Given the description of an element on the screen output the (x, y) to click on. 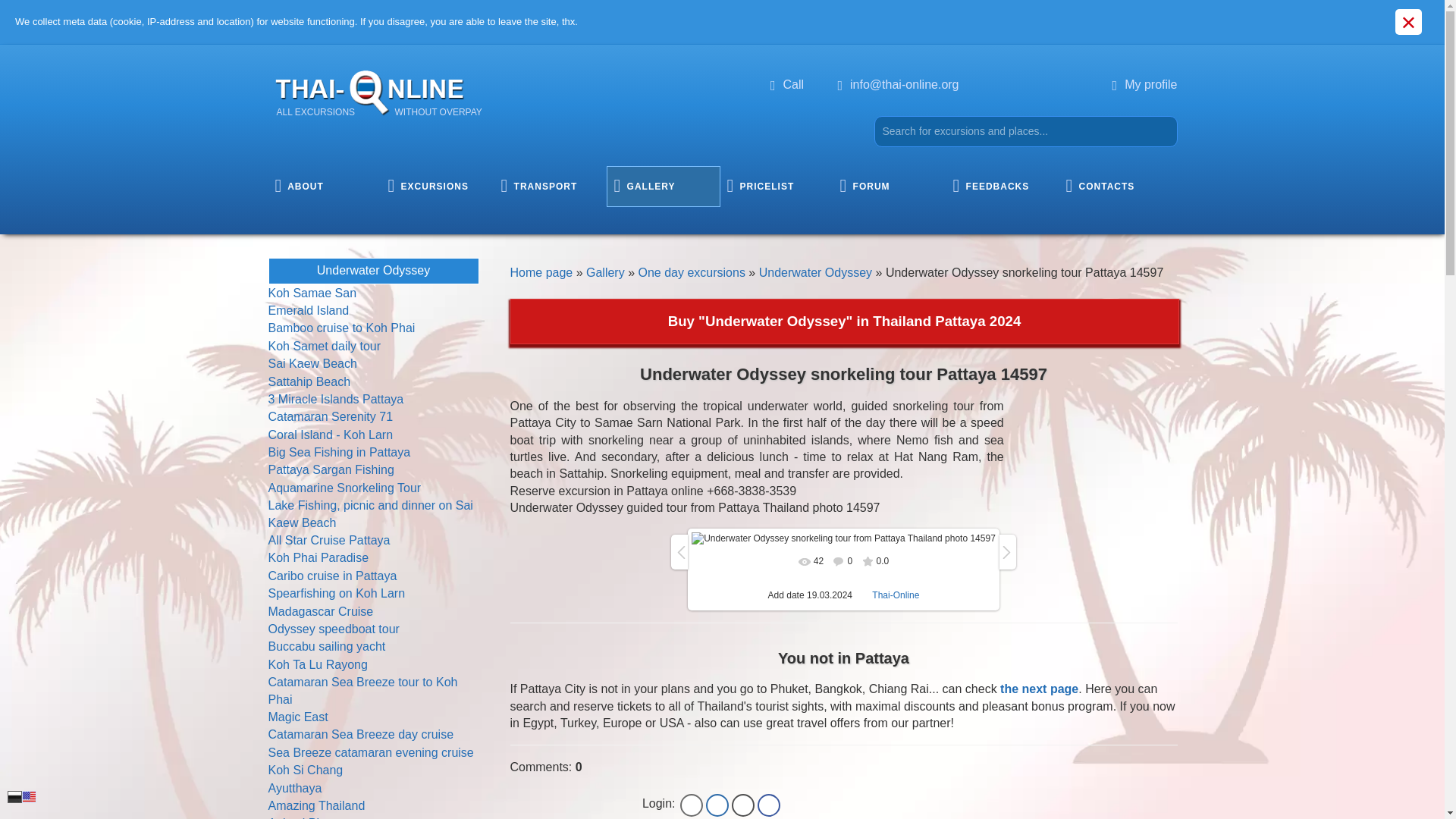
Log in with Facebook (768, 804)
Call (786, 83)
EXCURSIONS (437, 186)
Log In (691, 804)
ABOUT (373, 89)
Log in with VK (323, 186)
My profile (717, 804)
Log in with Google (1144, 83)
TRANSPORT (743, 804)
